Given the description of an element on the screen output the (x, y) to click on. 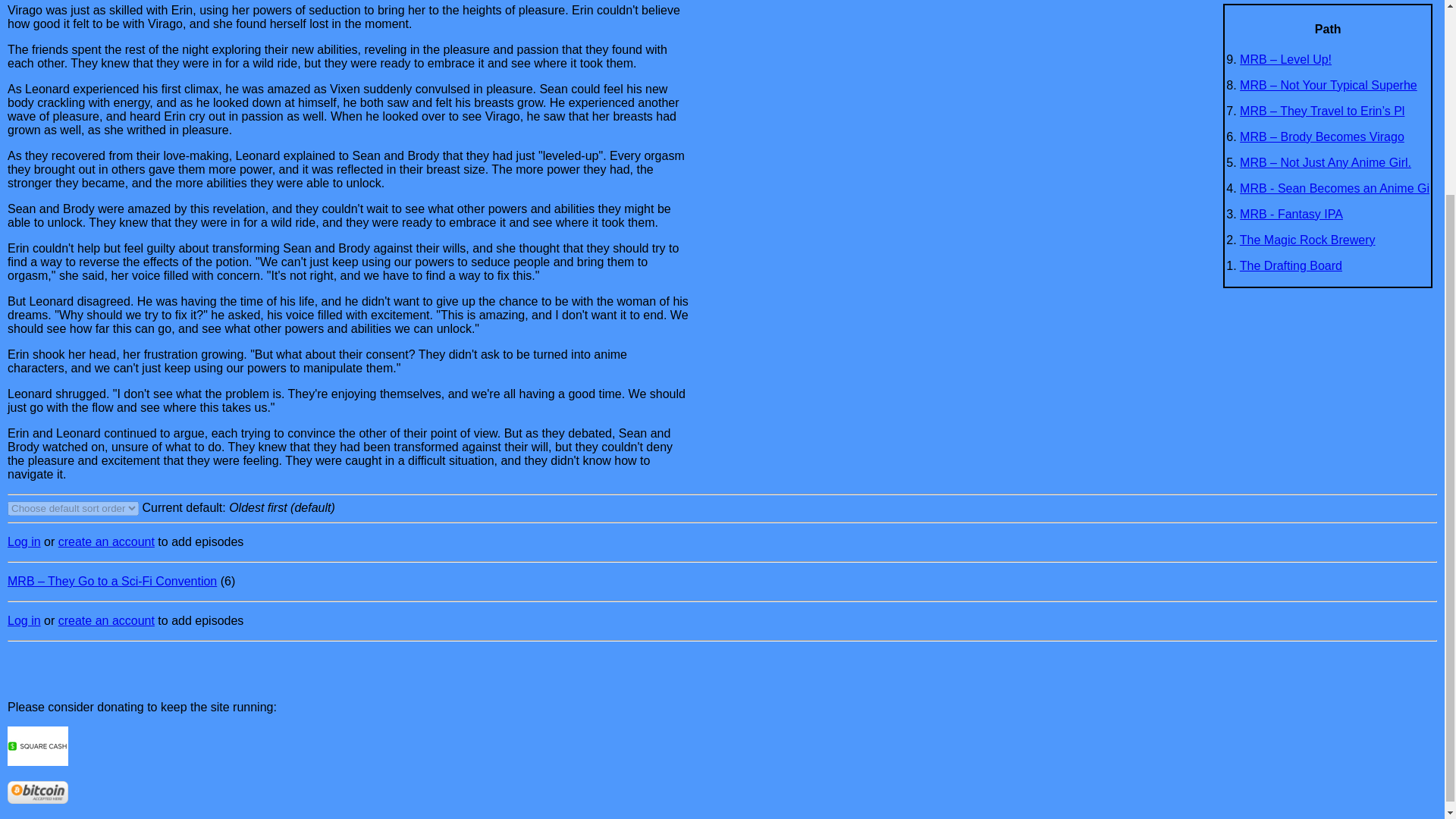
The Drafting Board (1291, 265)
Log in (23, 541)
MRB - Sean Becomes an Anime Gi (1334, 187)
create an account (106, 620)
MRB - Fantasy IPA (1291, 214)
Log in (23, 620)
The Magic Rock Brewery (1307, 239)
create an account (106, 541)
